Given the description of an element on the screen output the (x, y) to click on. 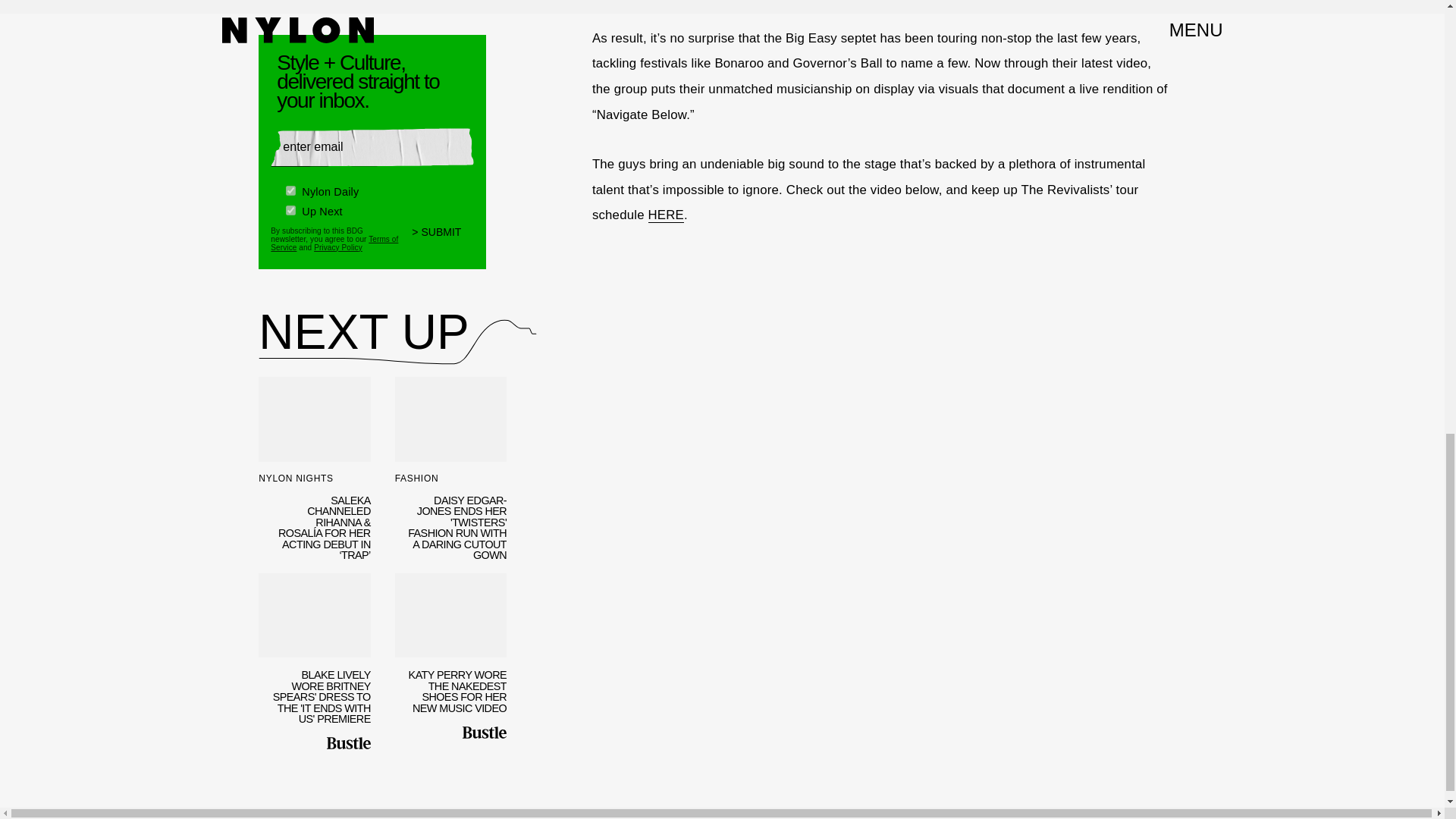
HERE (665, 215)
Terms of Service (333, 240)
SUBMIT (443, 238)
Privacy Policy (338, 246)
